Given the description of an element on the screen output the (x, y) to click on. 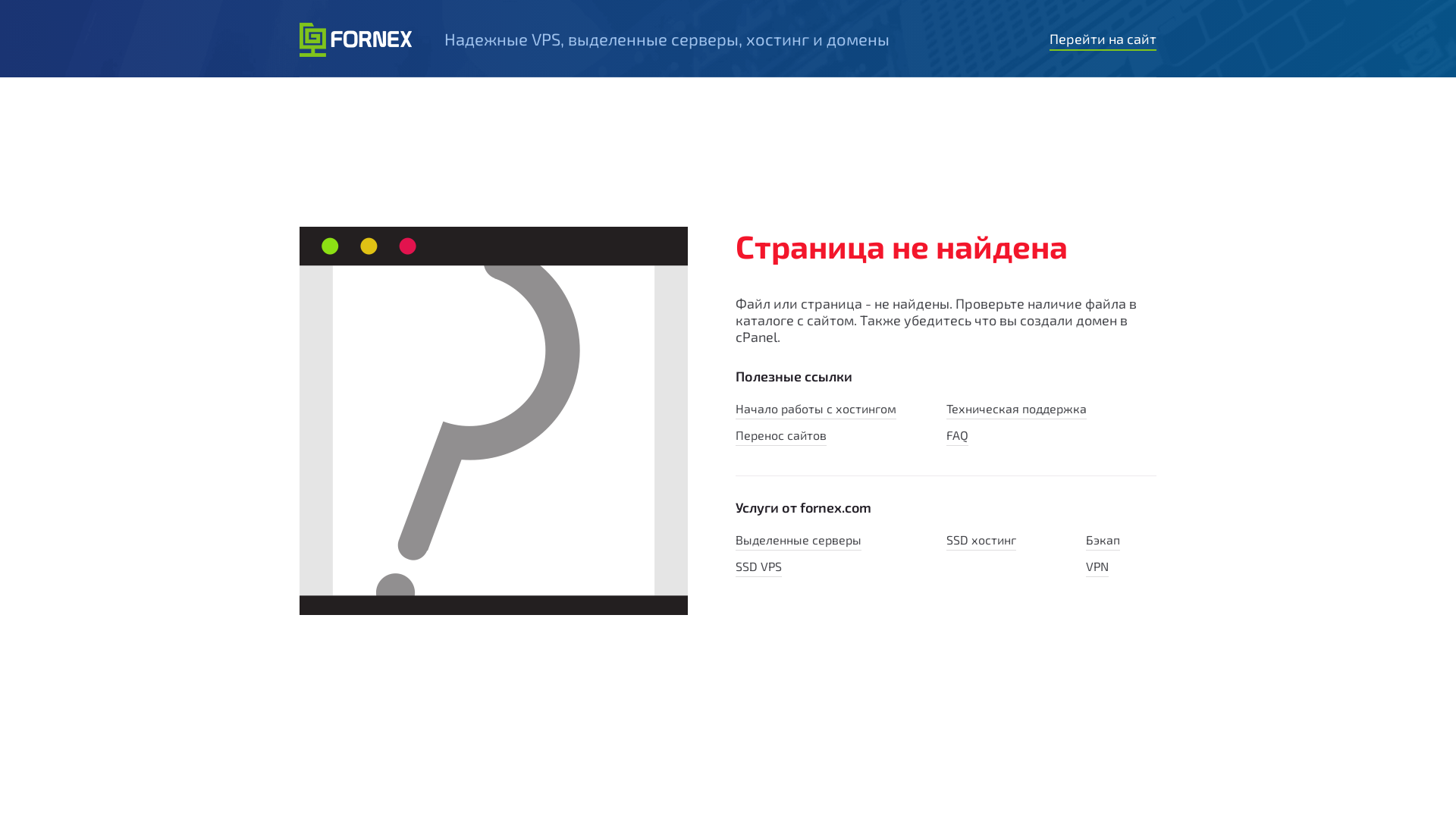
SSD VPS Element type: text (758, 567)
FAQ Element type: text (957, 436)
VPN Element type: text (1096, 567)
